Given the description of an element on the screen output the (x, y) to click on. 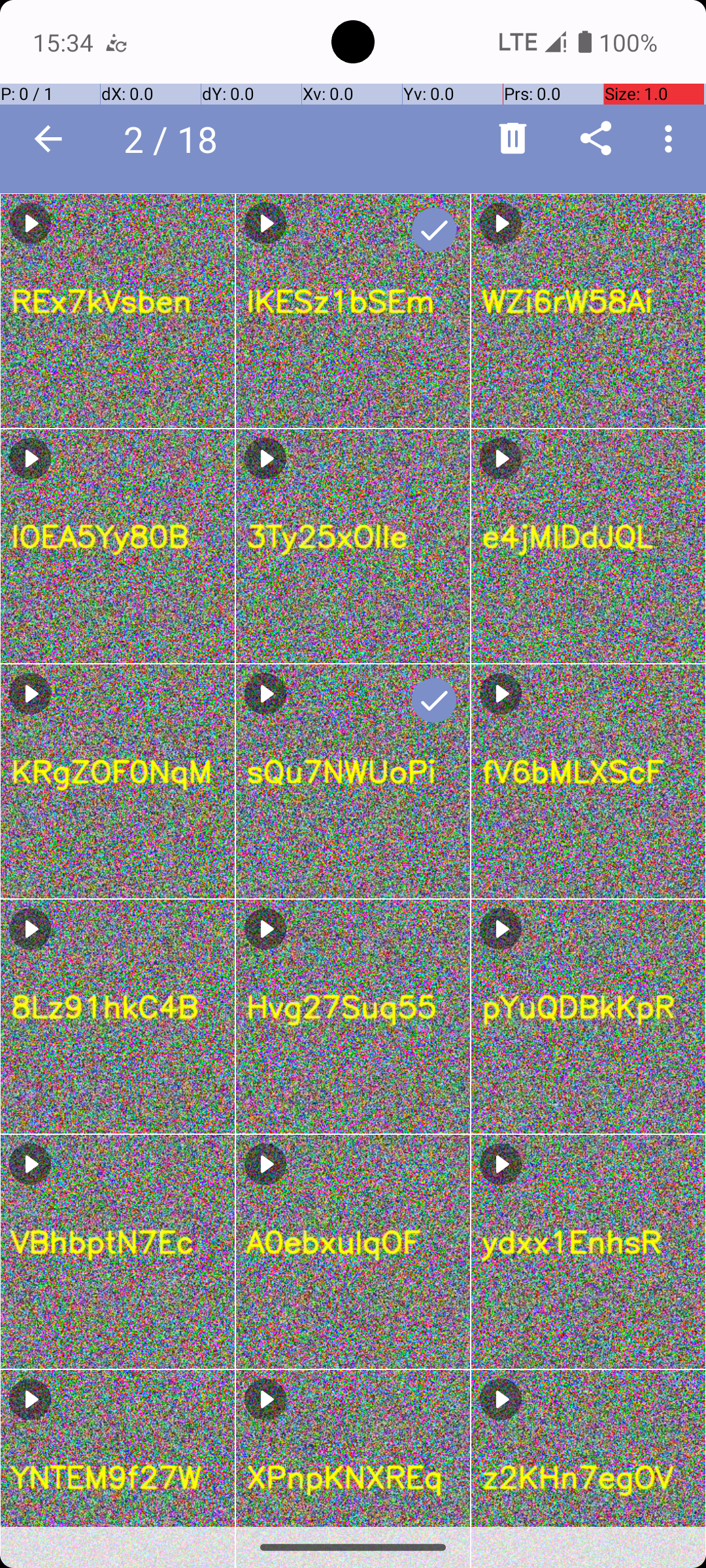
2 / 18 Element type: android.widget.TextView (177, 138)
Search in VLCVideos Element type: android.widget.EditText (252, 138)
